Given the description of an element on the screen output the (x, y) to click on. 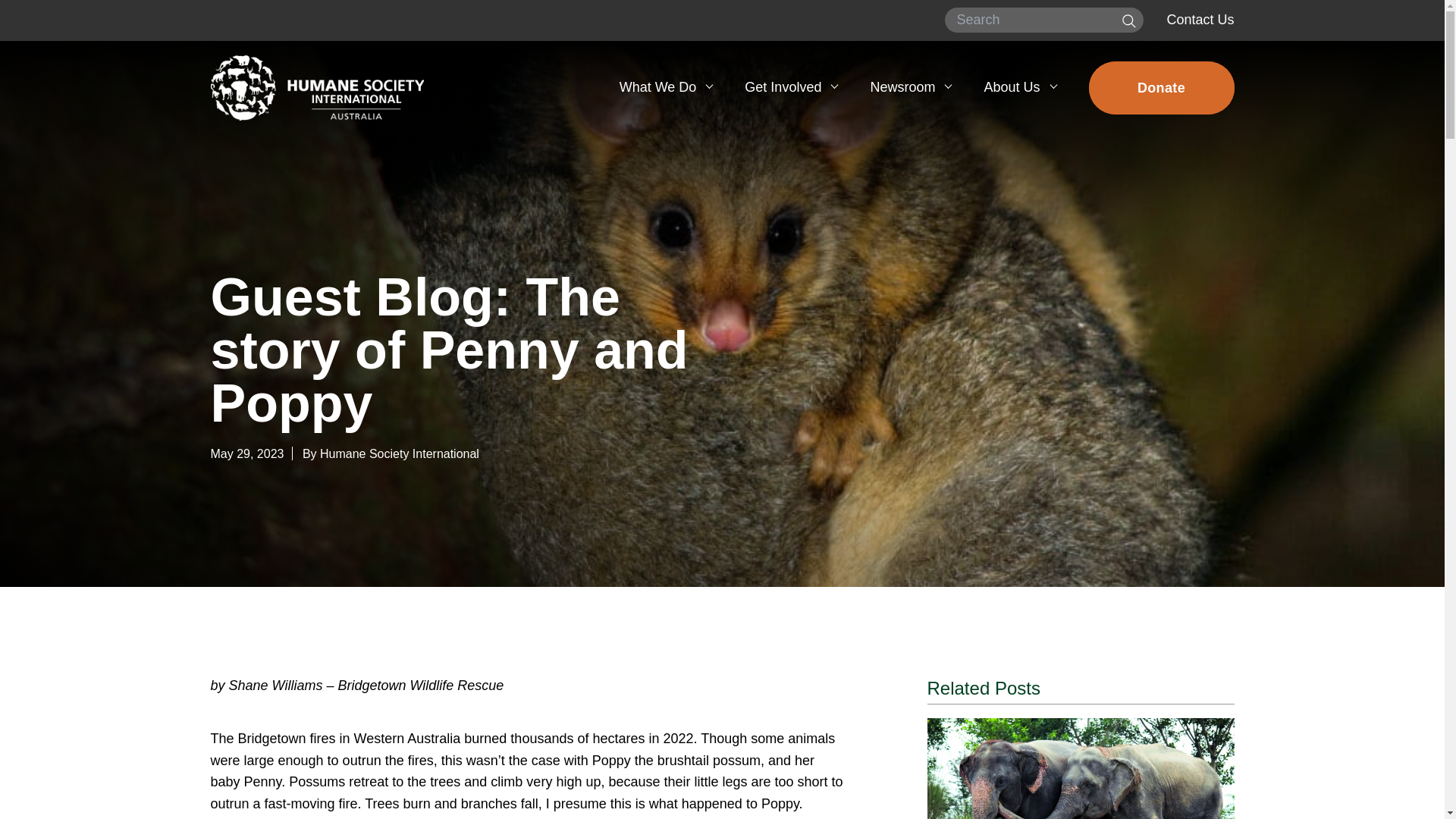
Contact Us (1199, 19)
Close (1211, 80)
What We Do (665, 87)
Submit (1125, 19)
Submit (1125, 19)
Get Involved (790, 87)
